Given the description of an element on the screen output the (x, y) to click on. 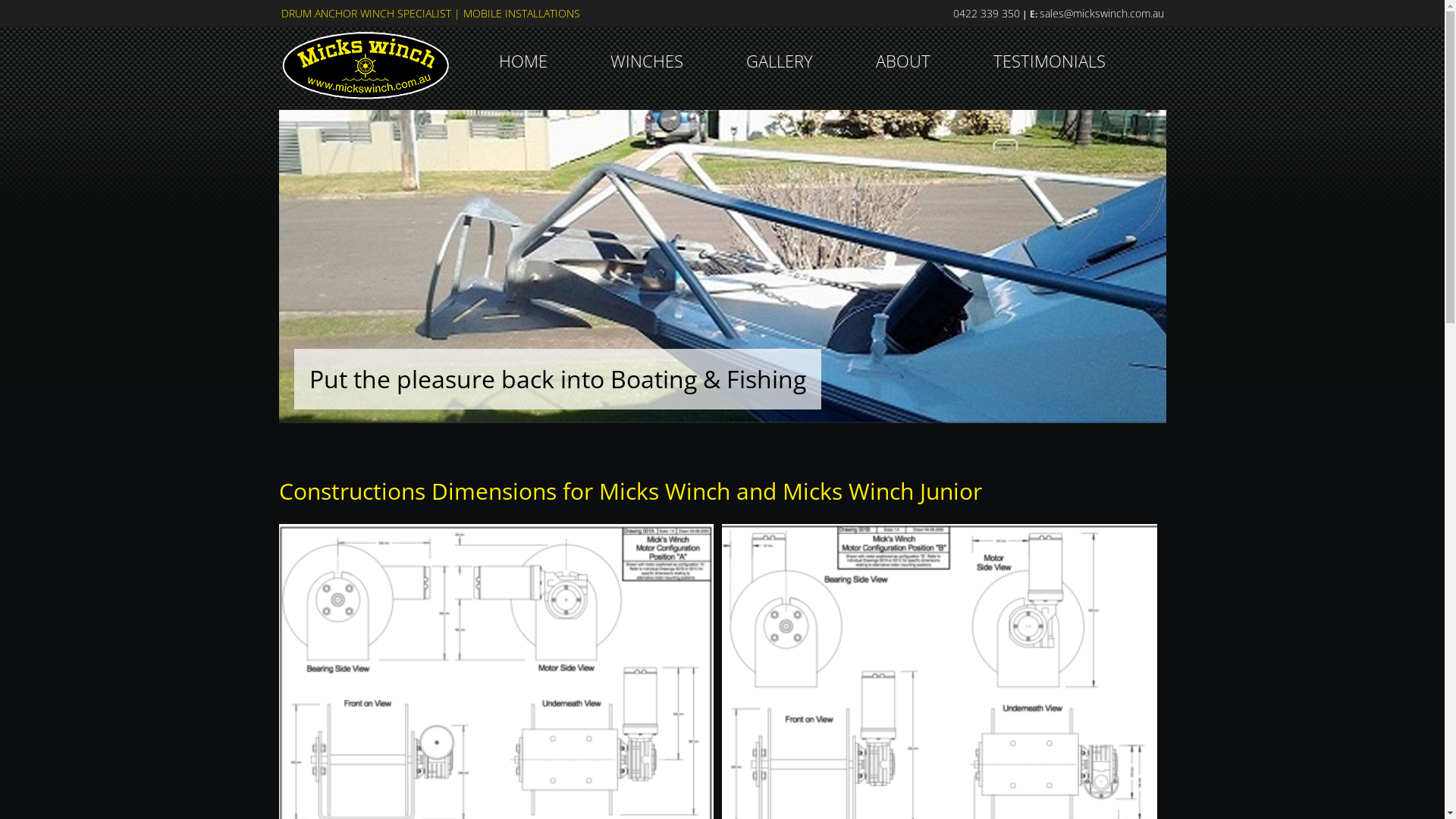
TESTIMONIALS Element type: text (1049, 45)
0422 339 350 Element type: text (985, 13)
GALLERY Element type: text (779, 45)
HOME Element type: text (522, 45)
WINCHES Element type: text (645, 45)
sales@mickswinch.com.au Element type: text (1100, 13)
ABOUT Element type: text (902, 45)
